Given the description of an element on the screen output the (x, y) to click on. 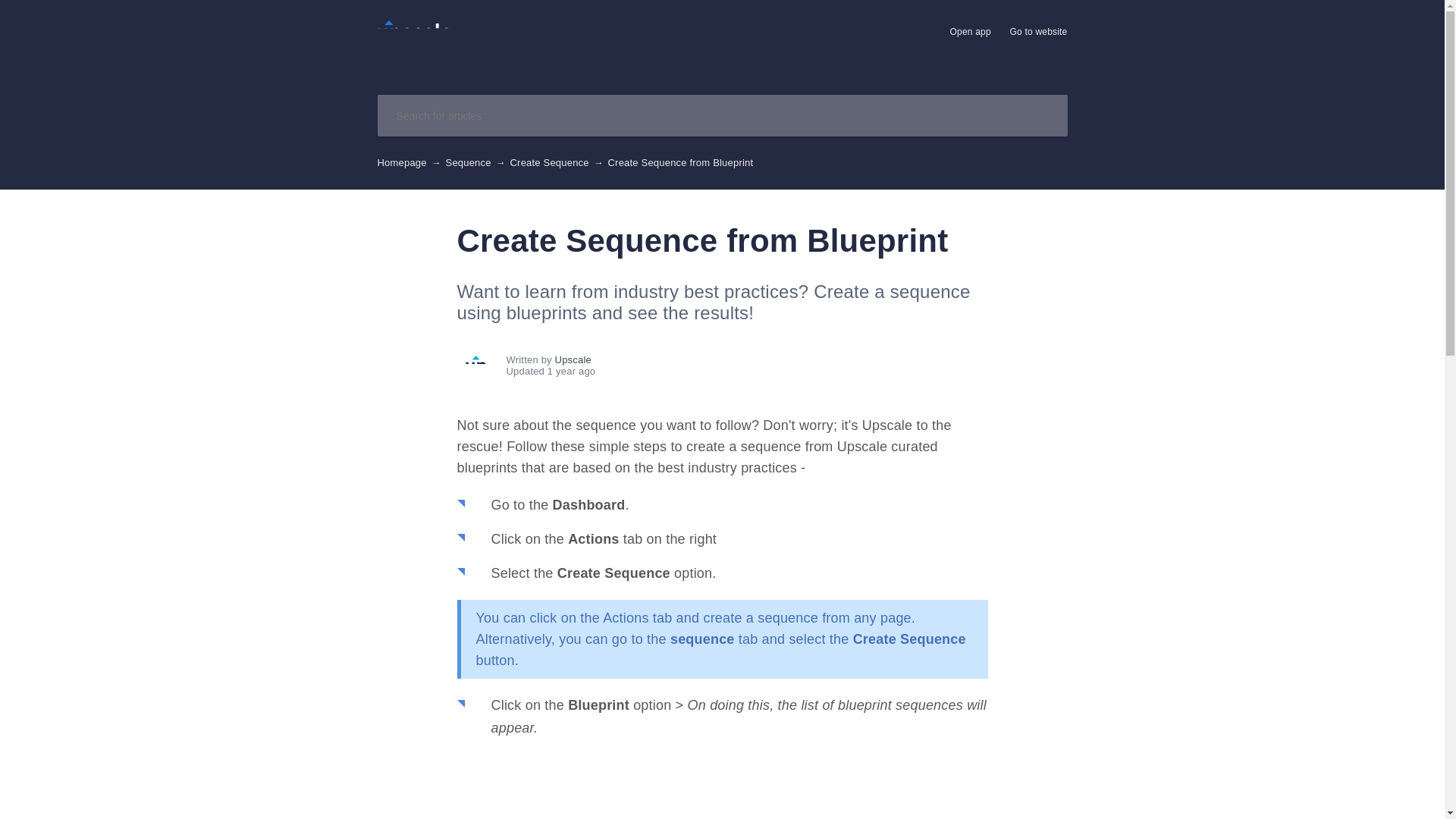
Create Sequence from Blueprint (414, 38)
Go to website (1038, 31)
1 year ago (747, 370)
Open app (970, 31)
